Given the description of an element on the screen output the (x, y) to click on. 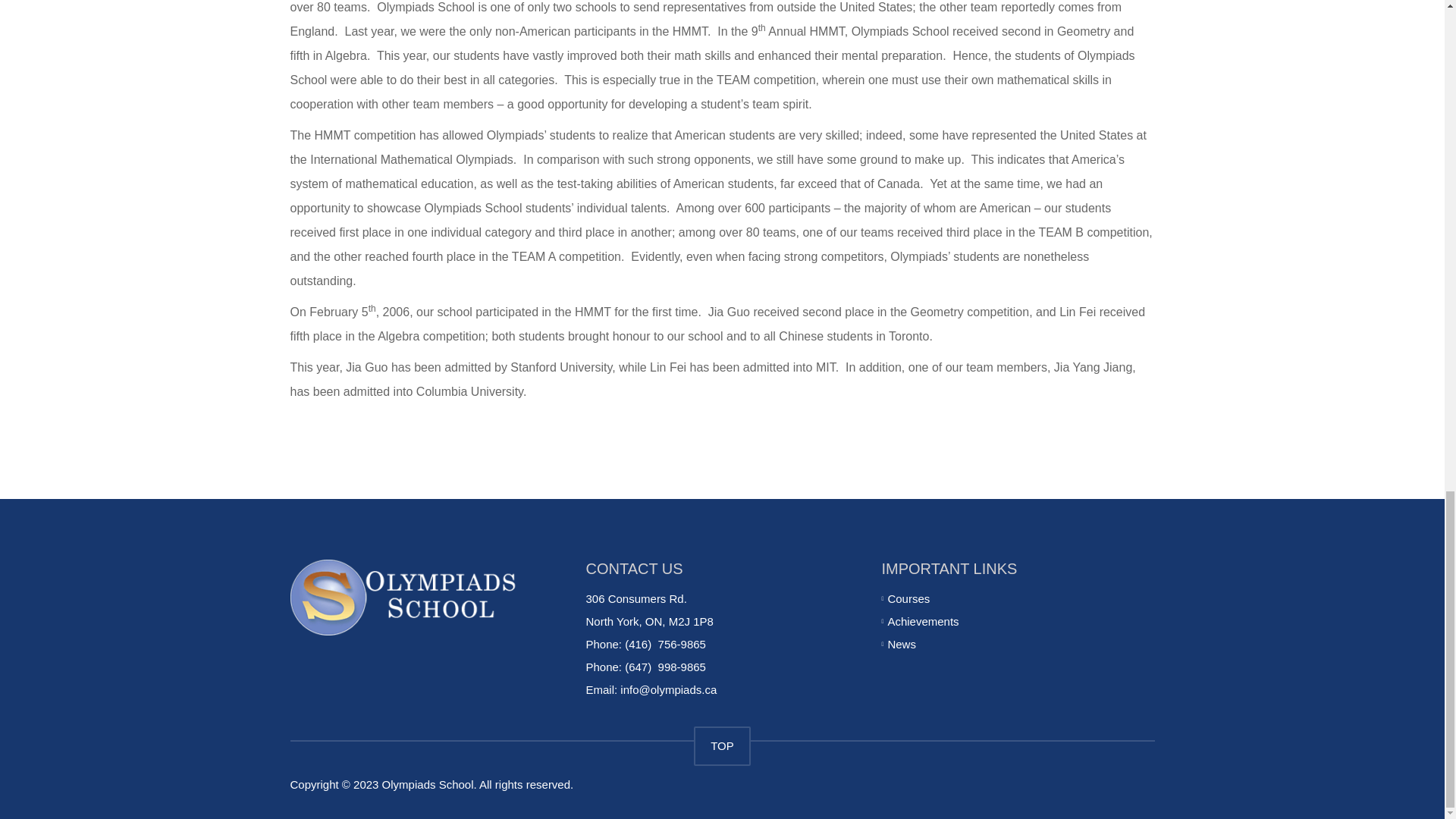
Courses (908, 598)
TOP (722, 745)
News (900, 644)
Achievements (922, 621)
